Given the description of an element on the screen output the (x, y) to click on. 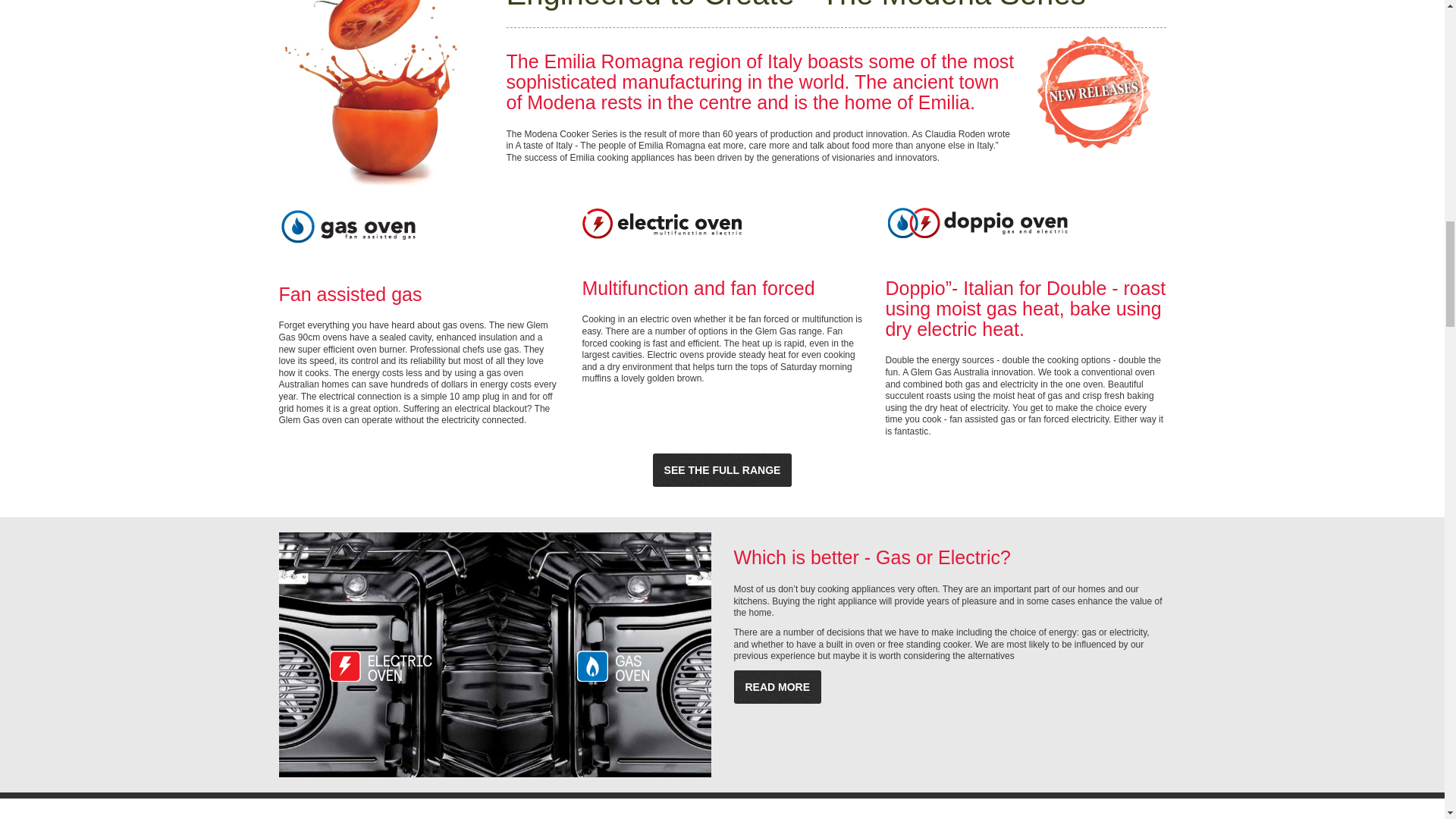
READ MORE (777, 686)
SEE THE FULL RANGE (722, 469)
